Given the description of an element on the screen output the (x, y) to click on. 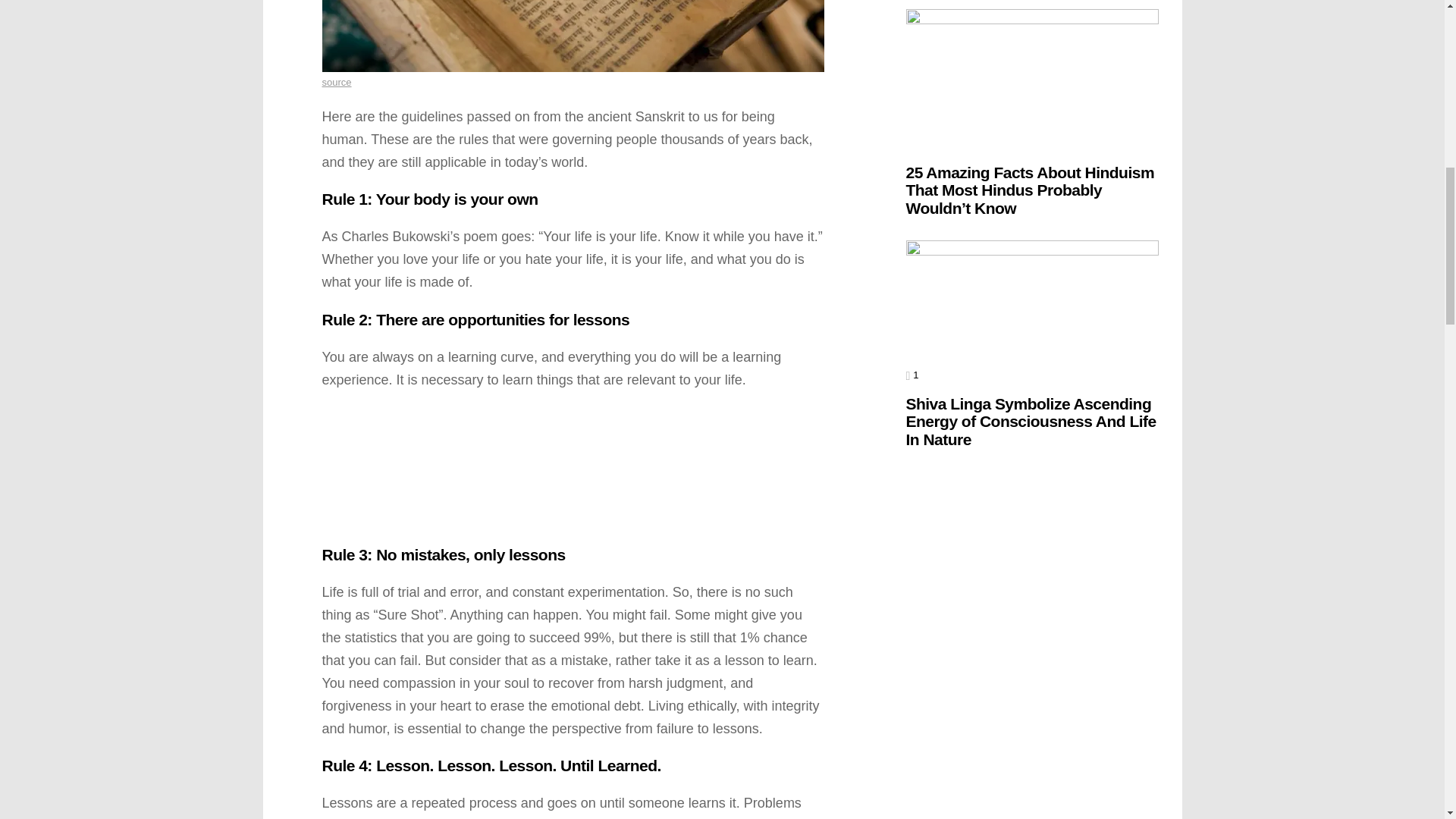
source (335, 81)
